Given the description of an element on the screen output the (x, y) to click on. 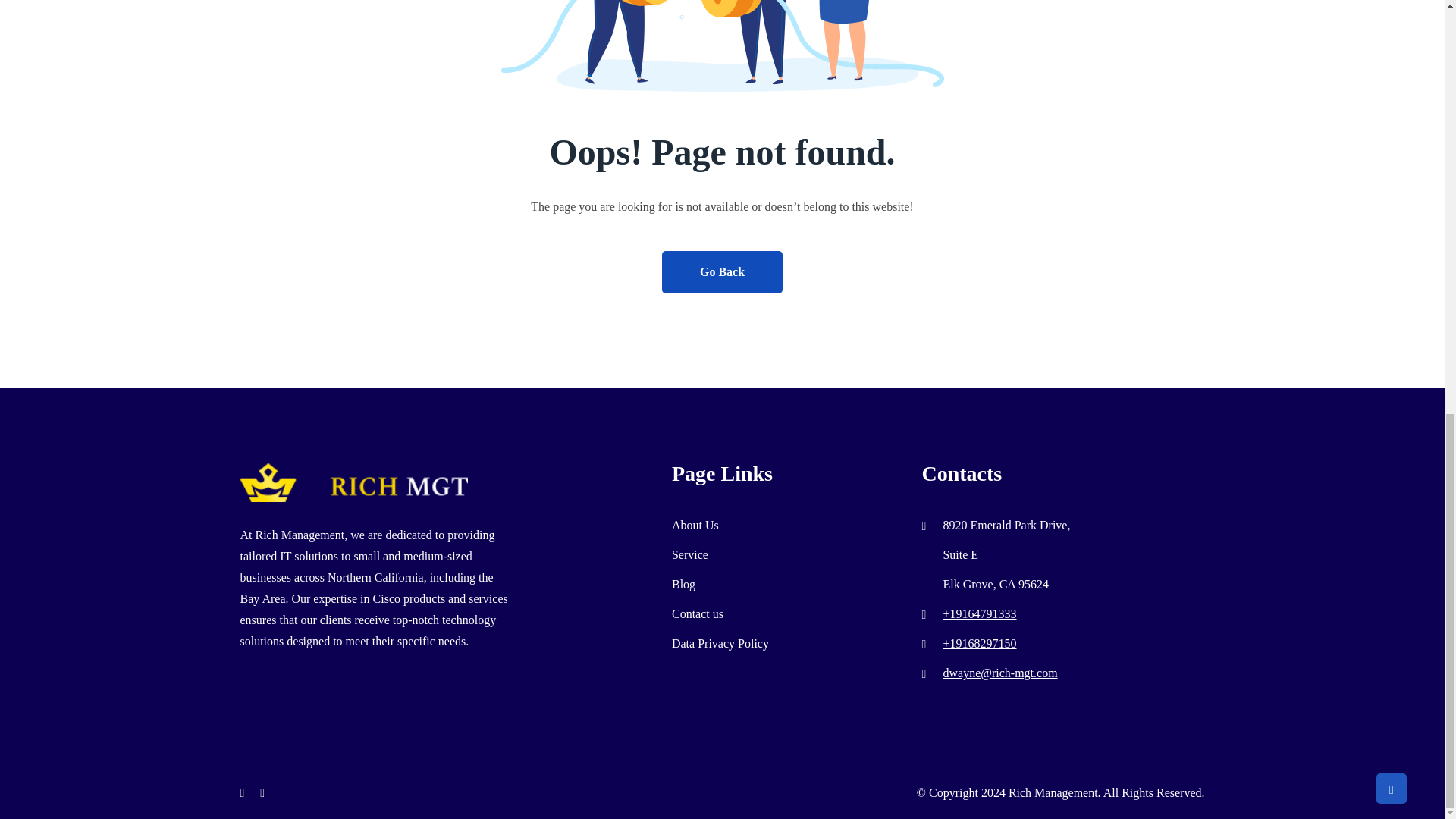
Service (689, 554)
About Us (695, 524)
Go Back (722, 271)
Contact us (697, 613)
Data Privacy Policy (719, 643)
Restly - Footer One 1 (353, 482)
Blog (683, 584)
